Given the description of an element on the screen output the (x, y) to click on. 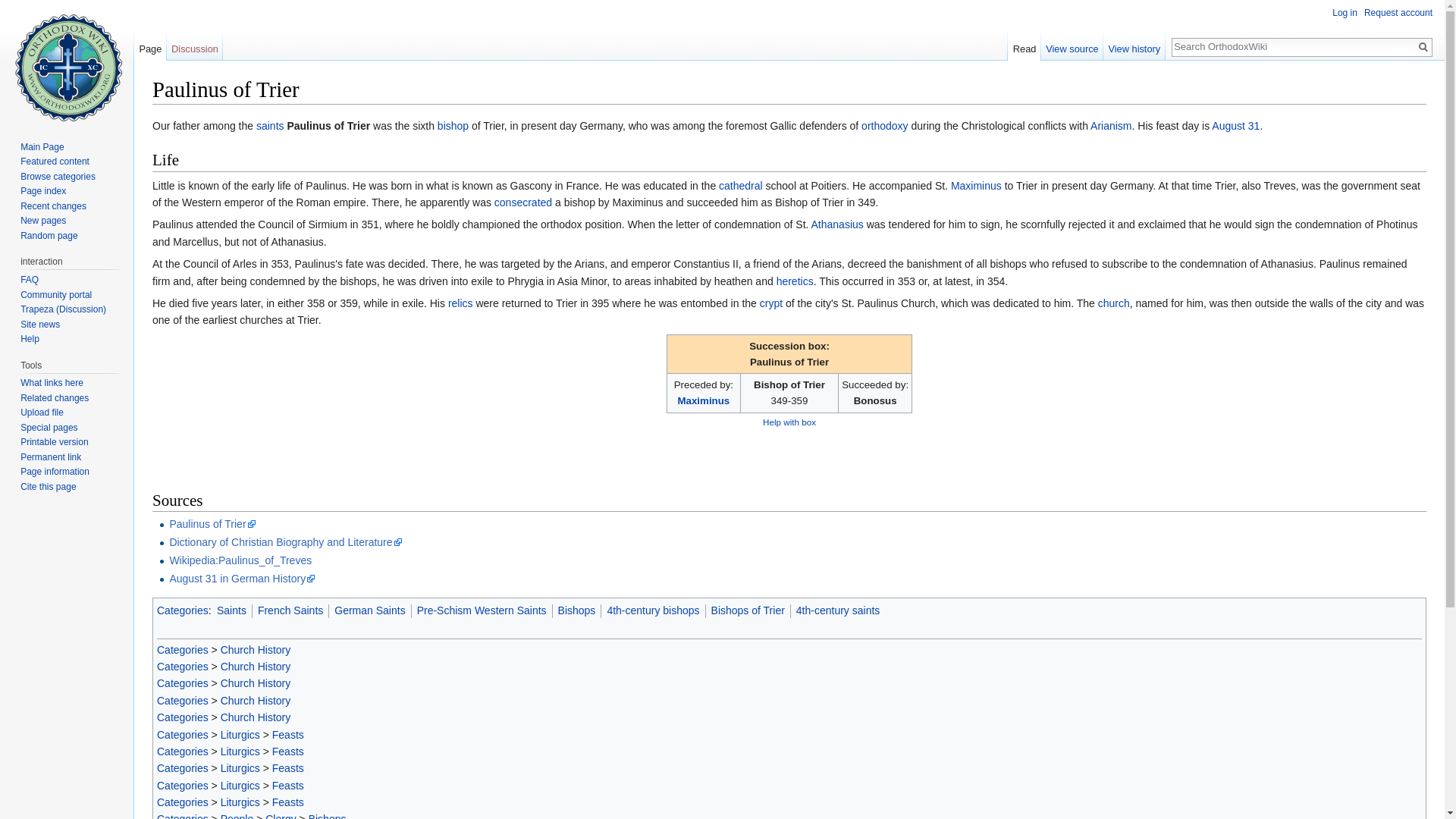
church (1113, 303)
Categories (182, 649)
Search (1423, 46)
Athanasius (836, 224)
Paulinus of Trier (212, 523)
cathedral (740, 185)
Go (1423, 46)
Categories (182, 700)
Categories (182, 610)
Heretic (794, 281)
